Given the description of an element on the screen output the (x, y) to click on. 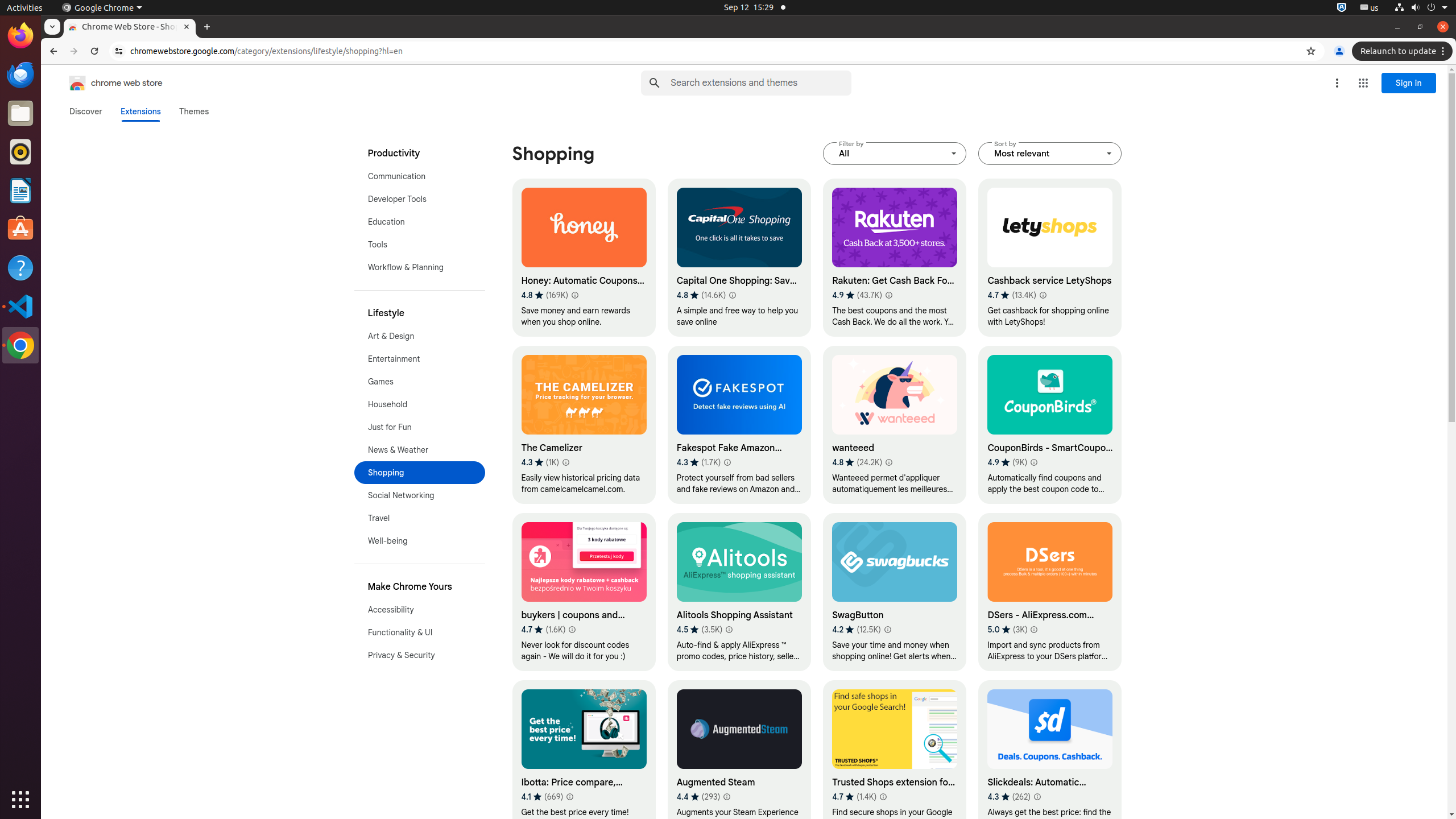
Ubuntu Software Element type: push-button (20, 229)
Lifestyle Element type: menu-item (419, 313)
Cashback service LetyShops Element type: link (1050, 257)
Well-being Element type: menu-item (419, 540)
Show Applications Element type: toggle-button (20, 799)
